Given the description of an element on the screen output the (x, y) to click on. 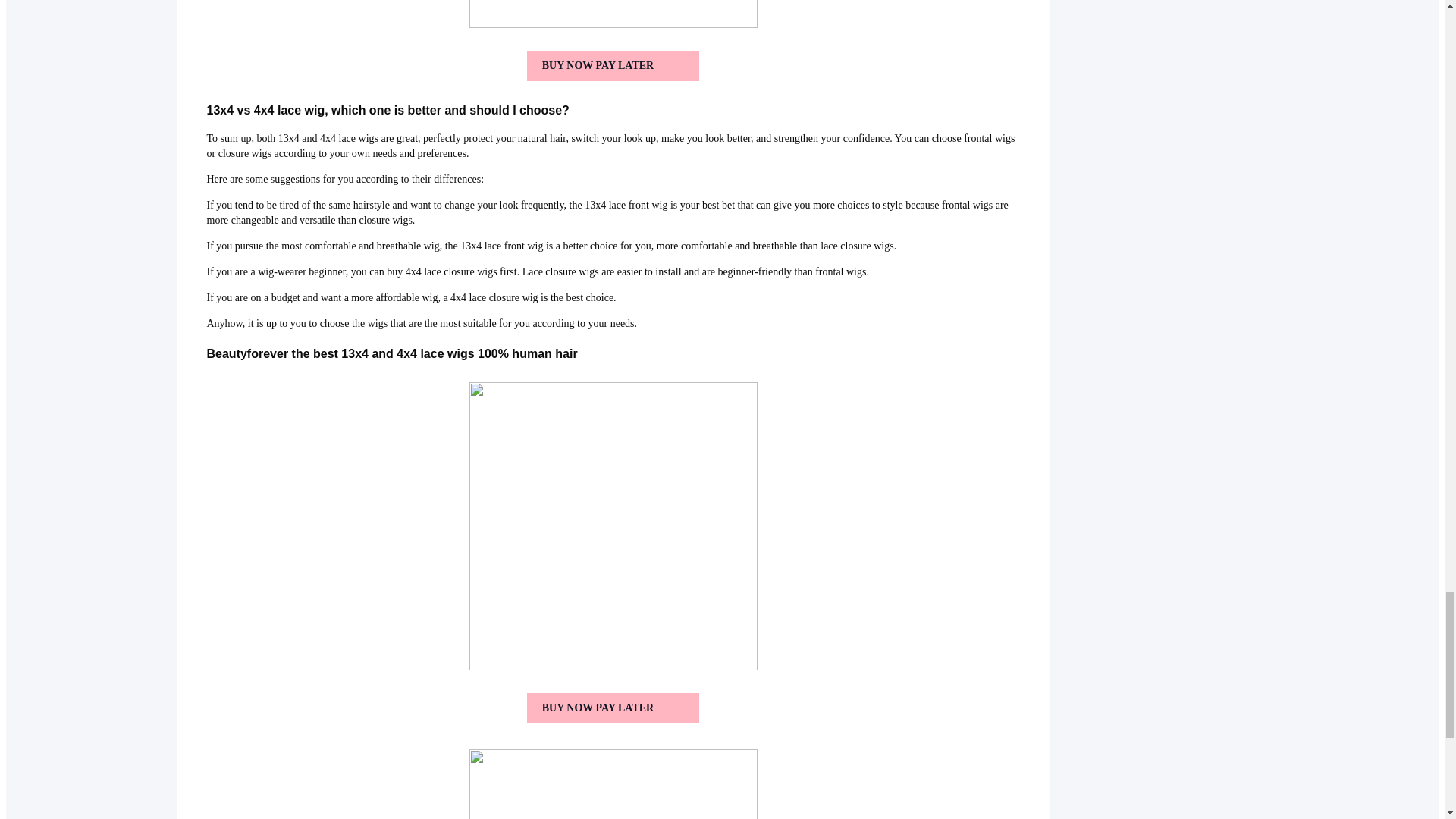
Buy Now Pay Later (612, 65)
Buy Now Pay Later (612, 707)
BUY NOW PAY LATER (612, 65)
BUY NOW PAY LATER (612, 707)
